Given the description of an element on the screen output the (x, y) to click on. 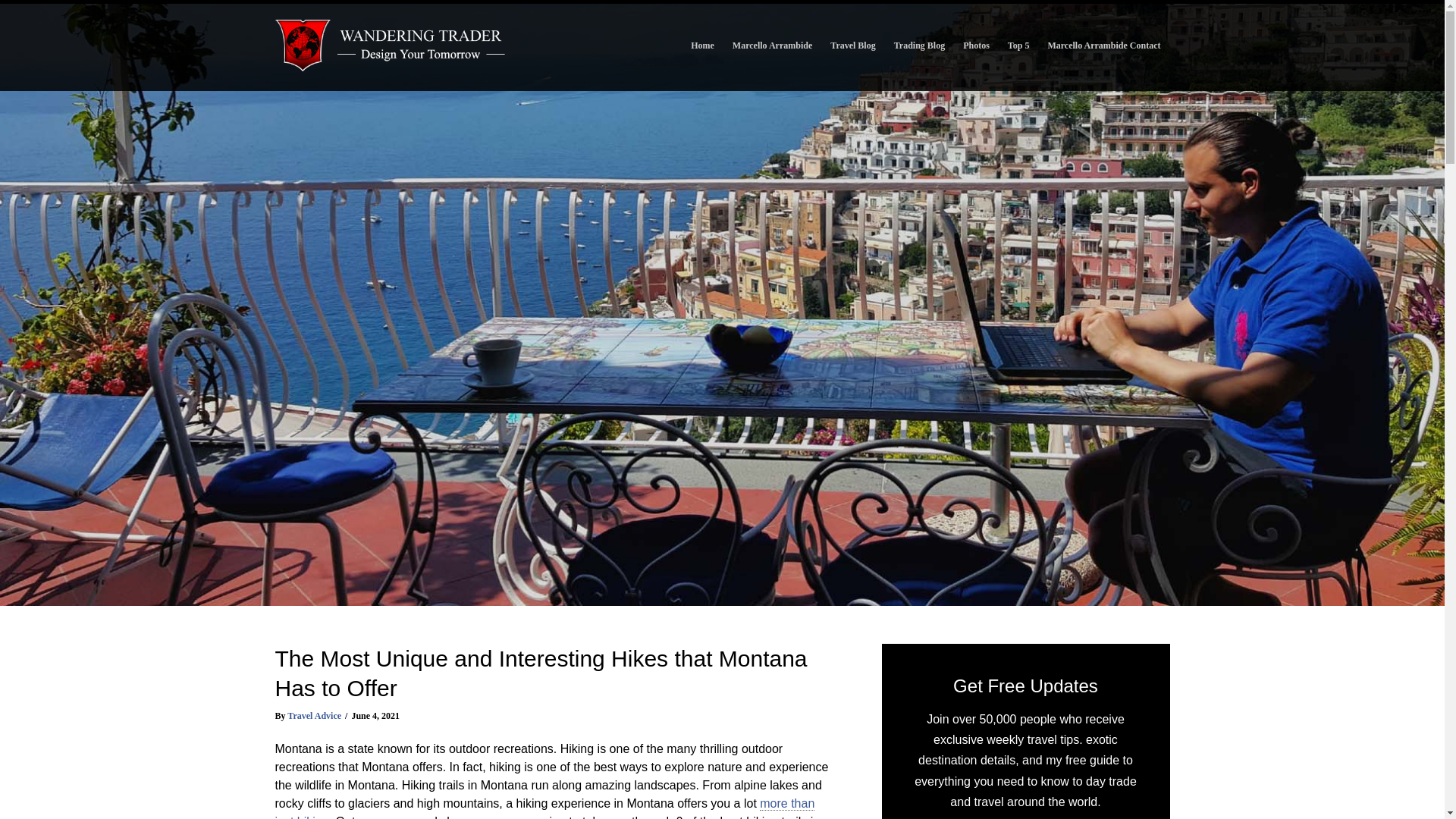
View all posts by Travel Advice (313, 715)
Top 5 (1018, 45)
WanderingTrader (390, 45)
Photos (975, 45)
Travel Advice (313, 715)
Home (702, 45)
Travel Blog (852, 45)
Trading Blog (919, 45)
Travel Blog (852, 45)
Marcello Arrambide (772, 45)
